Given the description of an element on the screen output the (x, y) to click on. 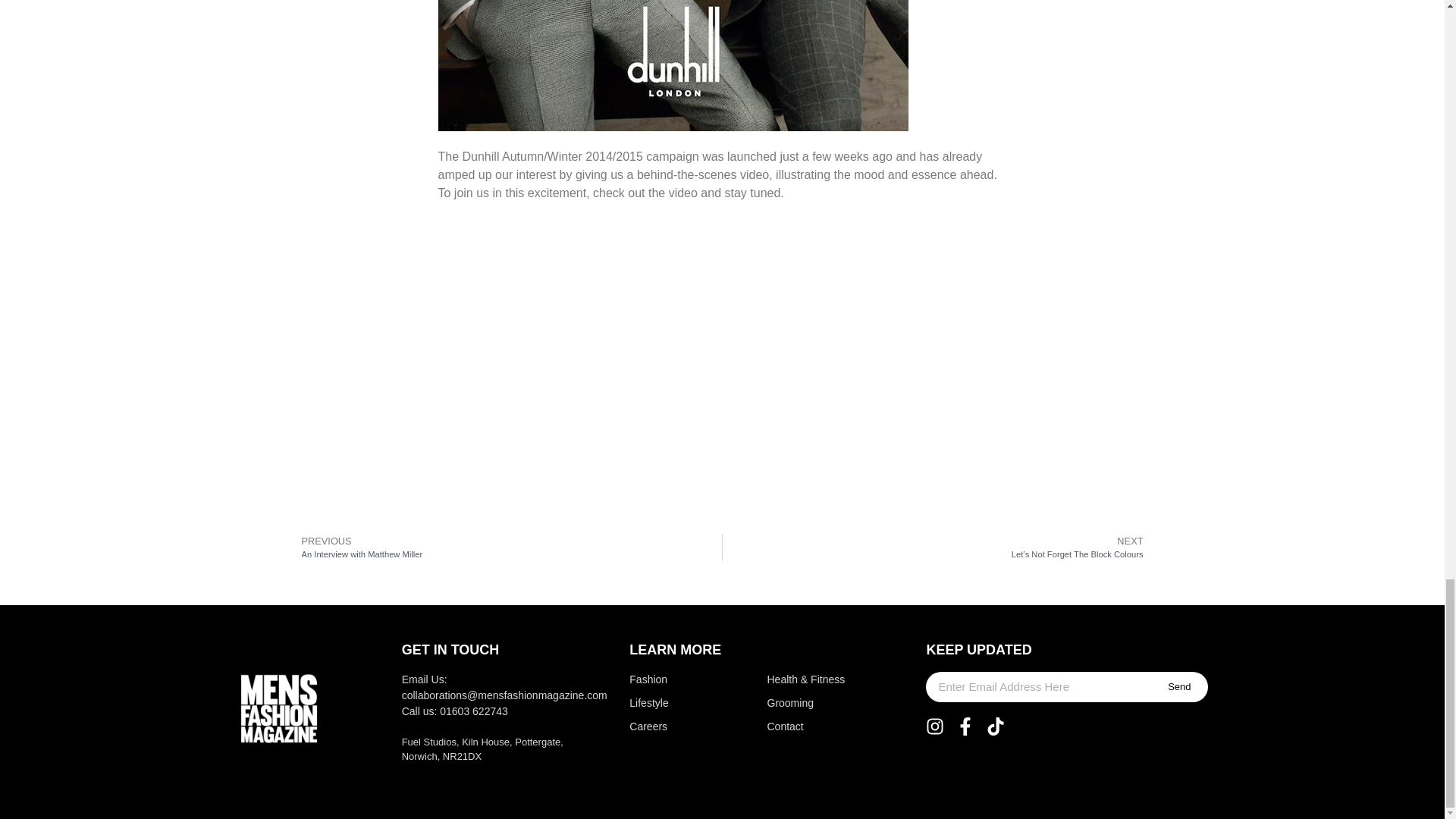
Fashion (667, 678)
Contact (807, 725)
Send (1179, 685)
Lifestyle (667, 703)
Grooming (505, 547)
